Given the description of an element on the screen output the (x, y) to click on. 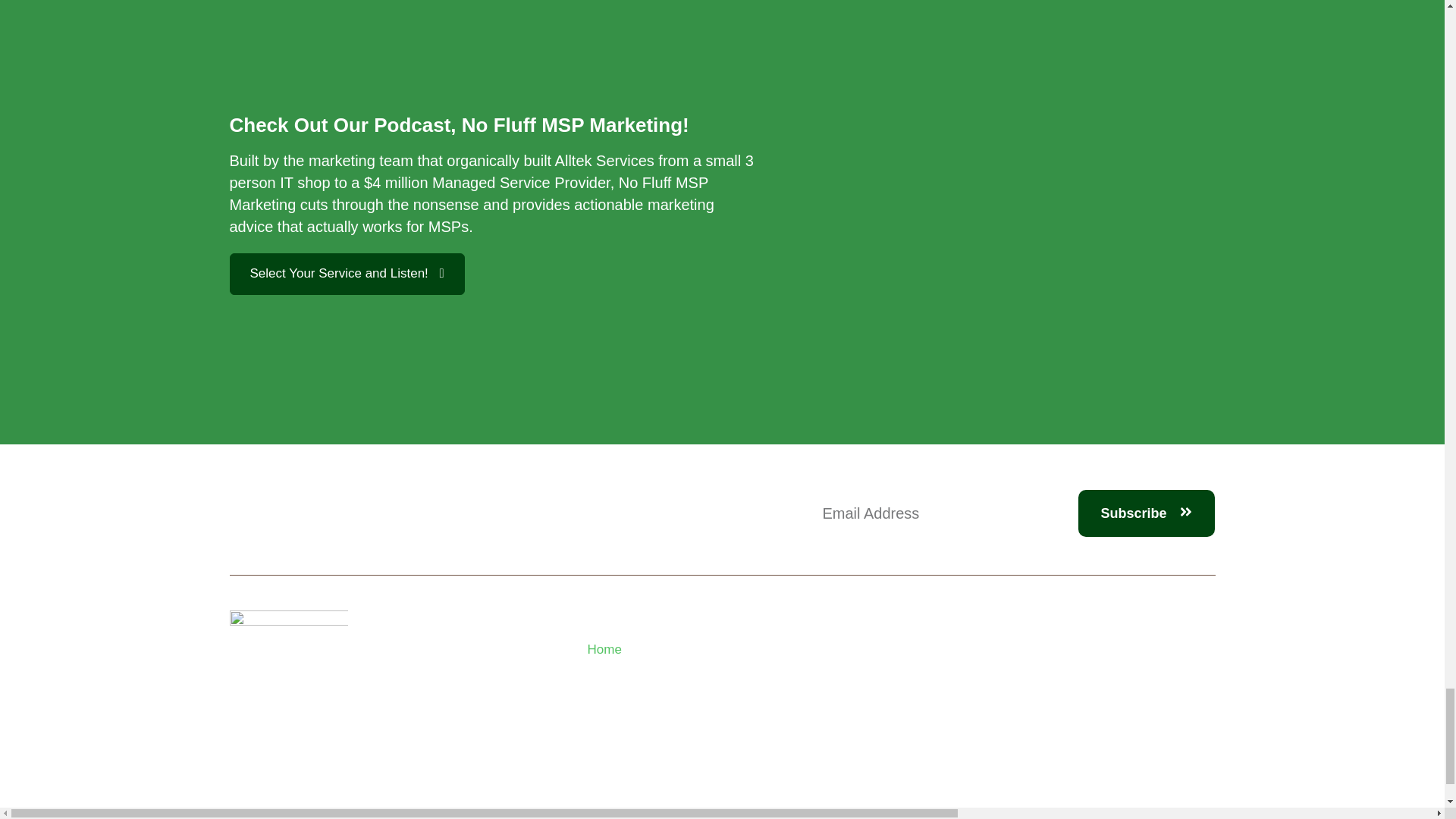
Plans (670, 673)
Blog (670, 698)
Privacy Policy (670, 746)
Subscribe (1146, 513)
Partner Page (670, 722)
Home (670, 649)
Select Your Service and Listen! (346, 273)
